Given the description of an element on the screen output the (x, y) to click on. 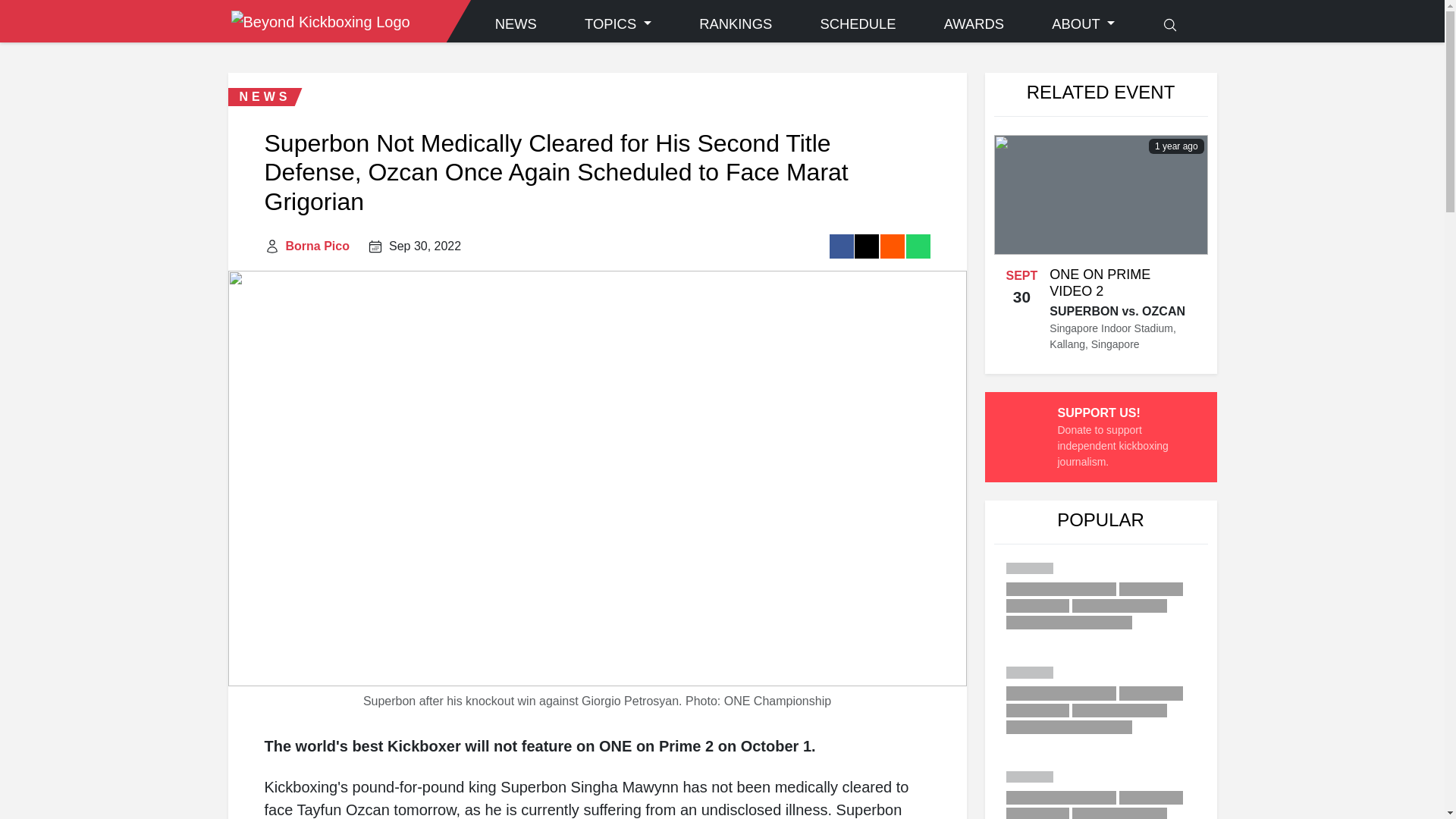
ABOUT (1082, 23)
RANKINGS (735, 23)
TOPICS (617, 23)
SCHEDULE (857, 23)
AWARDS (973, 23)
NEWS (515, 23)
Borna Pico (317, 245)
